Given the description of an element on the screen output the (x, y) to click on. 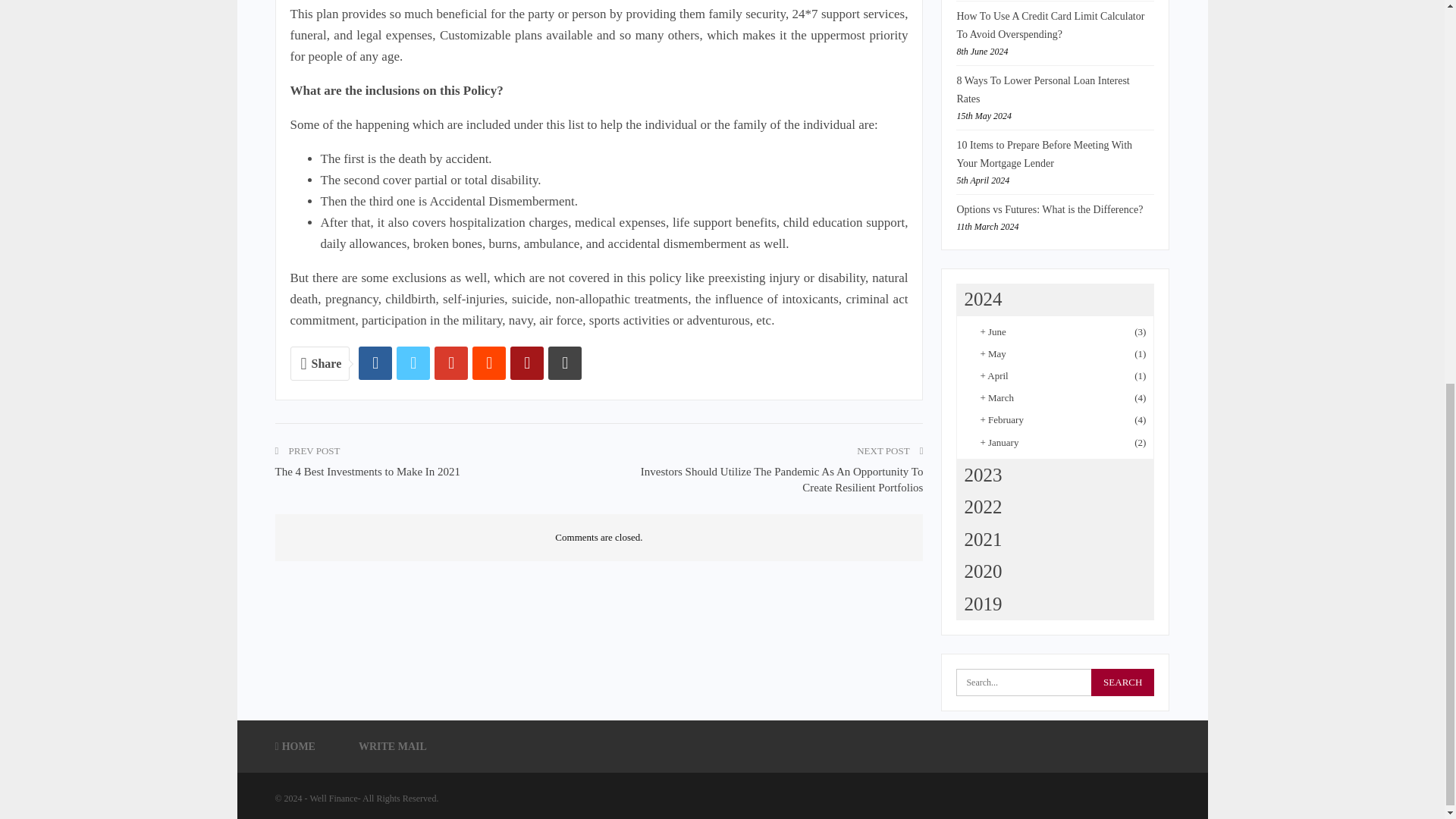
Search for: (1055, 682)
Search (1122, 682)
Search (1122, 682)
